Given the description of an element on the screen output the (x, y) to click on. 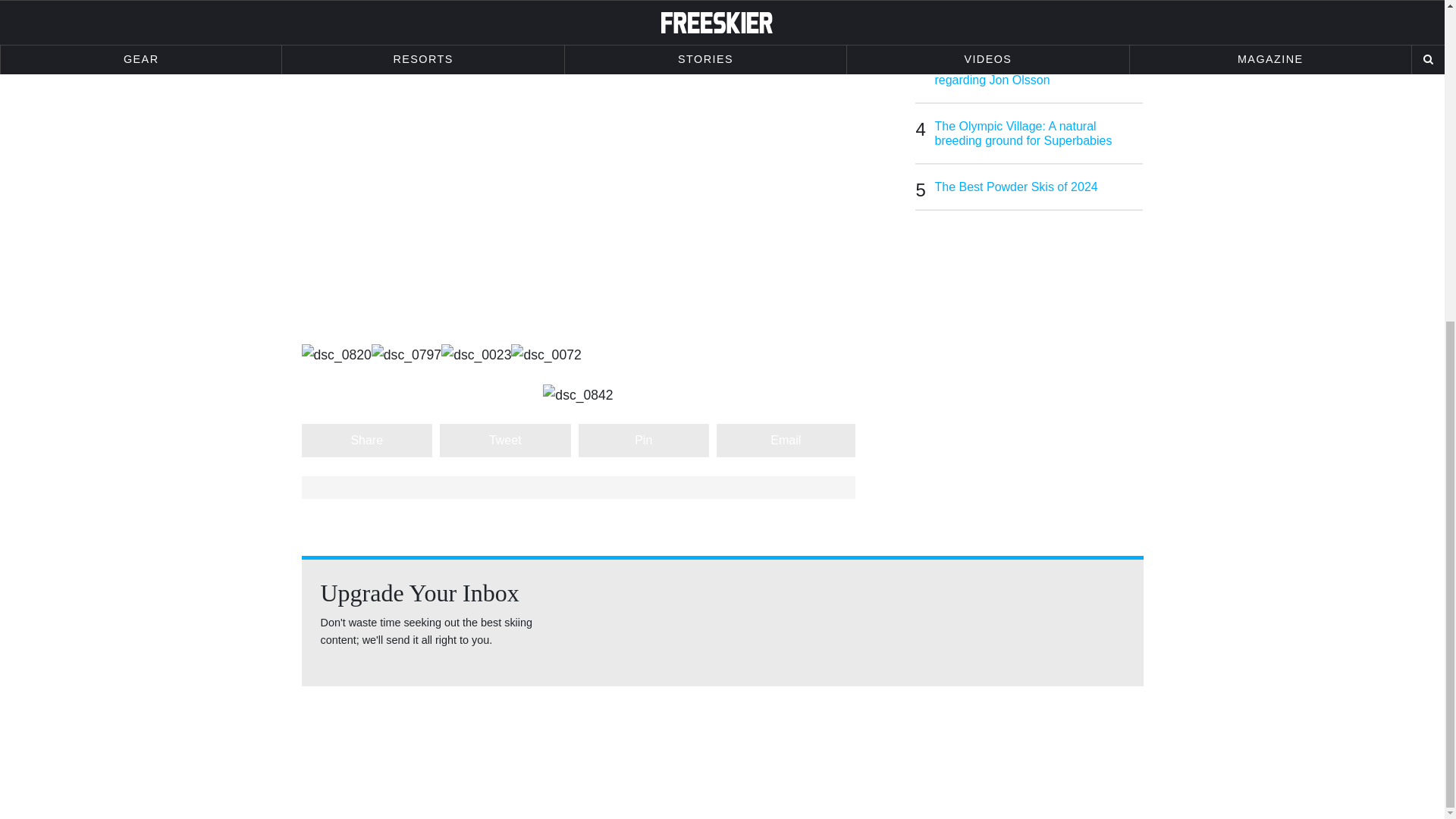
The Best Powder Skis of 2024 (1038, 186)
The Best Big-Mountain Skis of 2024 (1038, 18)
